Given the description of an element on the screen output the (x, y) to click on. 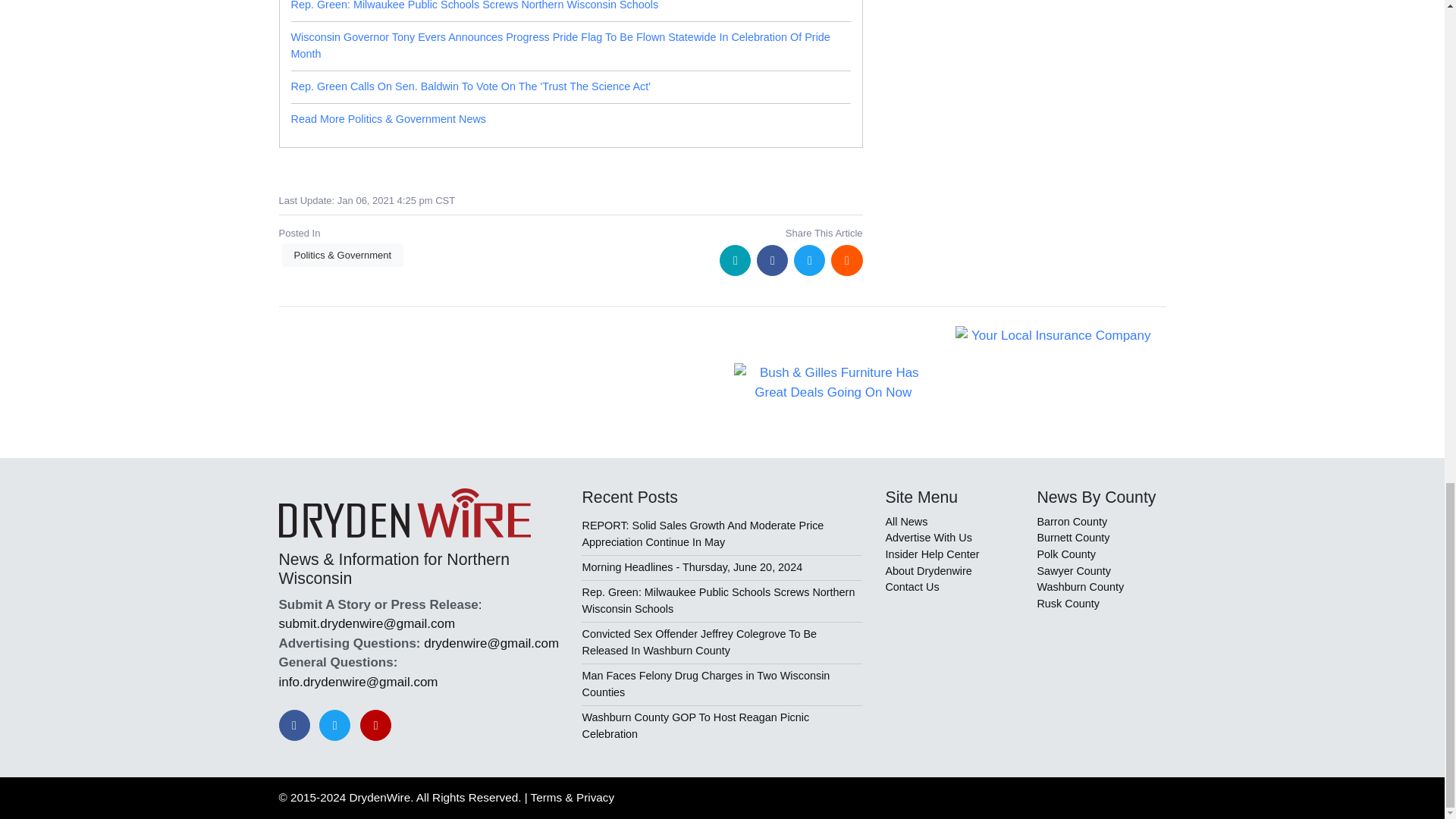
email (735, 260)
twitter (809, 260)
Your Local Insurance Company (1054, 335)
facebook (772, 260)
reddit (846, 260)
